Given the description of an element on the screen output the (x, y) to click on. 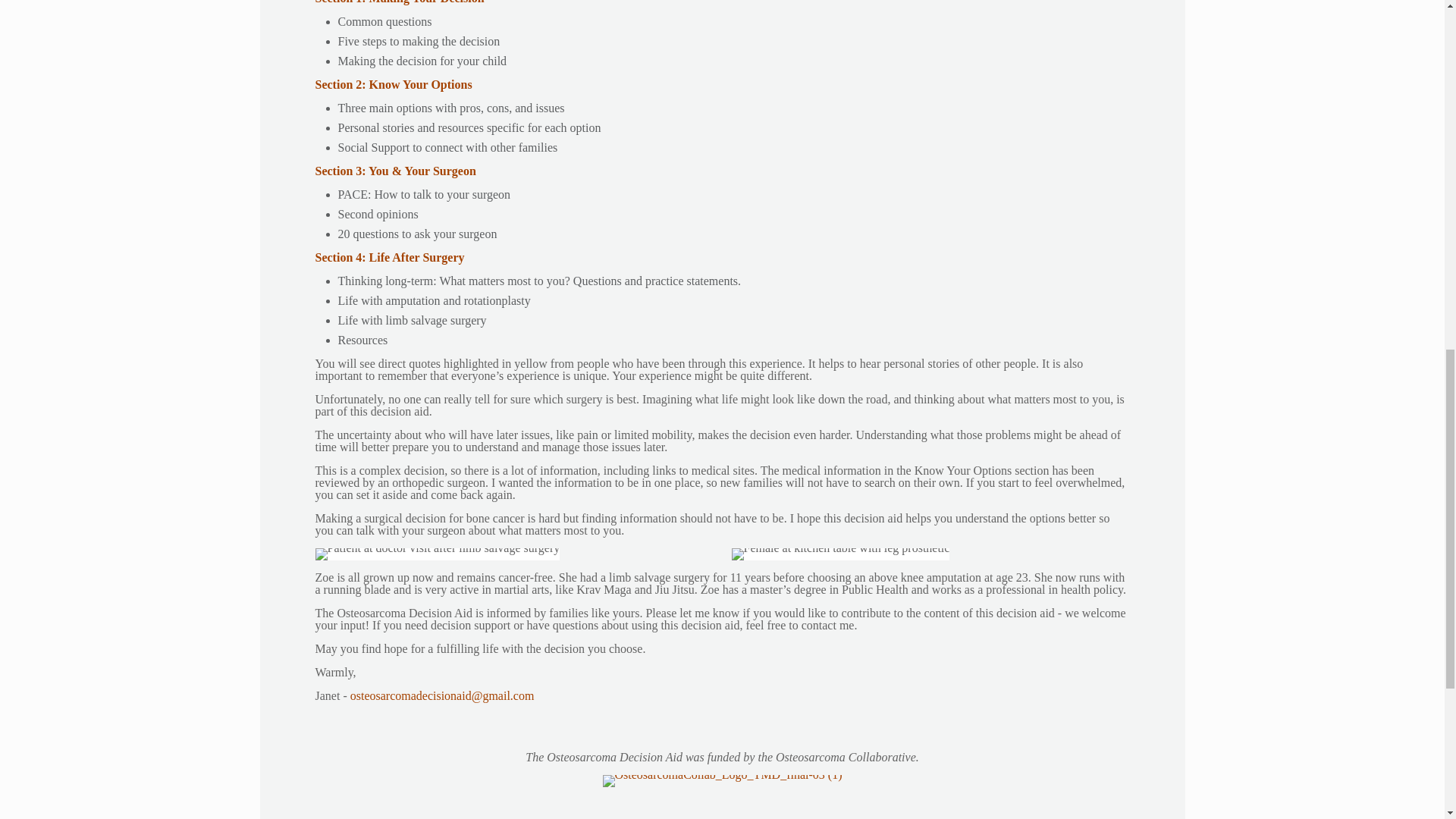
Section 1: Making Your Decision (399, 2)
Section 2: Know Your Options (393, 83)
Section 4: Life After Surgery (389, 256)
